Given the description of an element on the screen output the (x, y) to click on. 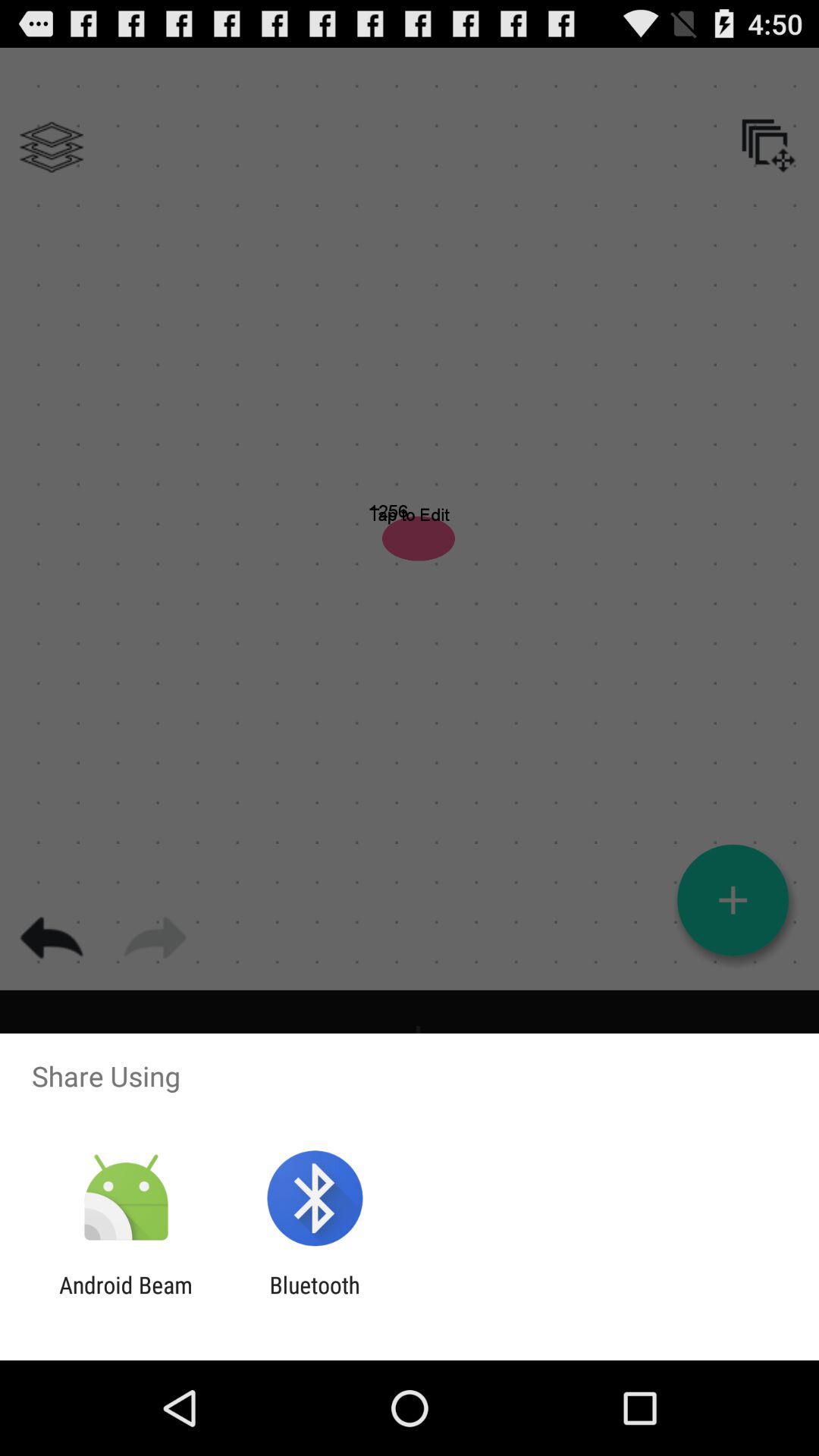
tap android beam app (125, 1298)
